Given the description of an element on the screen output the (x, y) to click on. 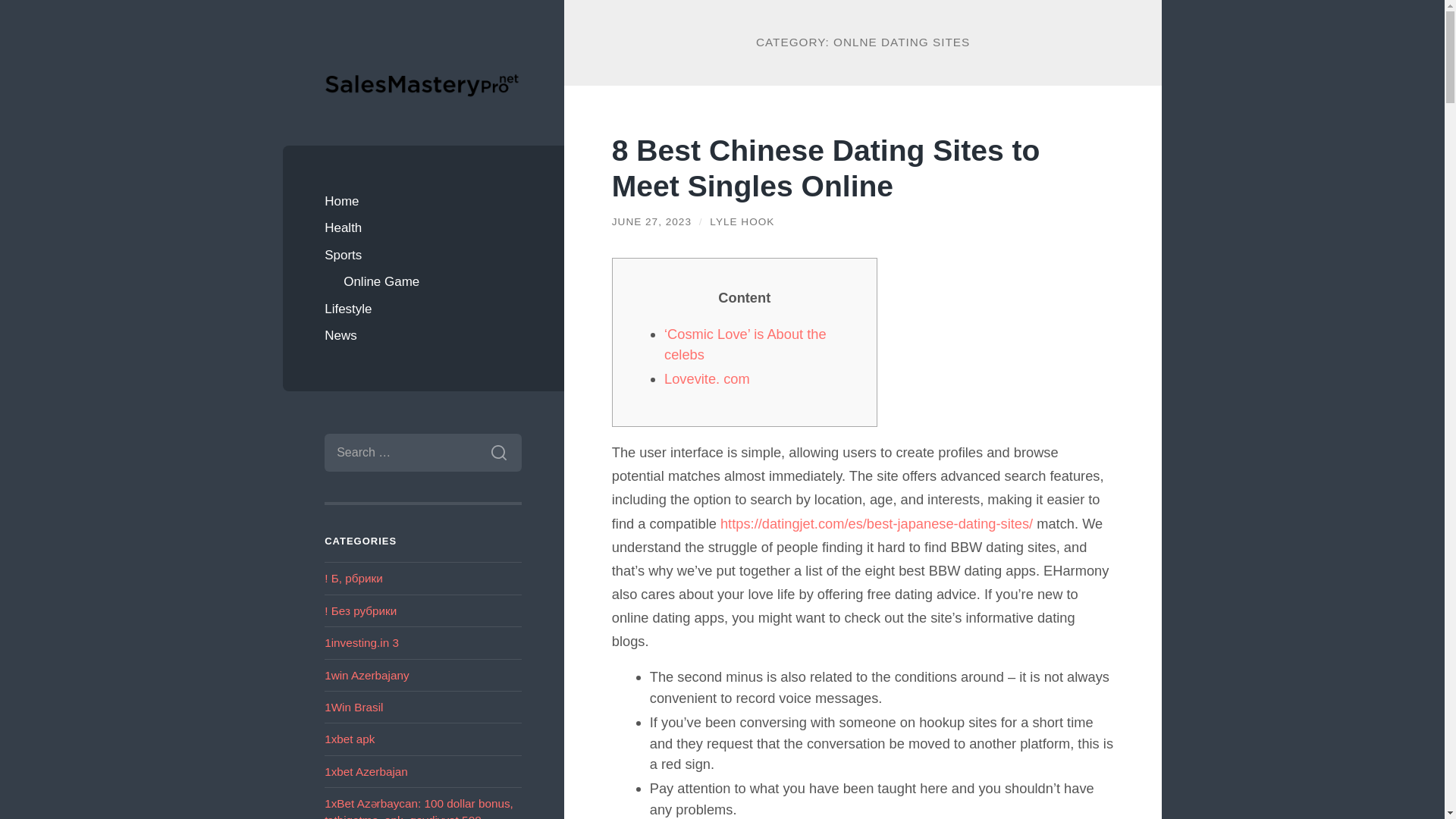
Home (422, 201)
Health (422, 227)
Search (498, 452)
1investing.in 3 (361, 642)
Search (498, 452)
Posts by Lyle Hook (742, 221)
Lifestyle (422, 308)
1xbet Azerbajan (365, 771)
Sports (422, 255)
Online Game (432, 281)
News (422, 335)
1xbet apk (349, 738)
Search (498, 452)
1win Azerbajany (366, 675)
